Given the description of an element on the screen output the (x, y) to click on. 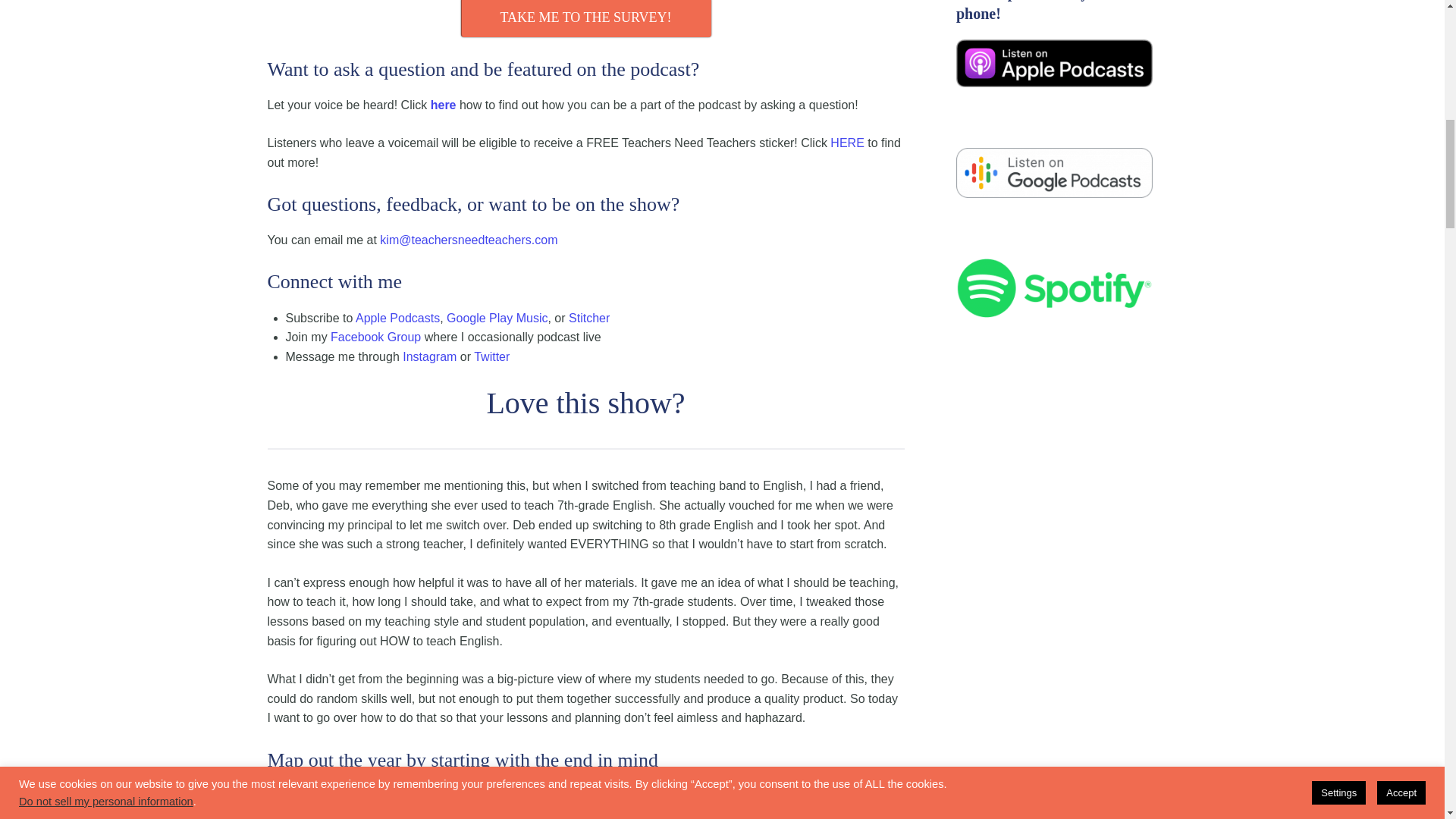
HERE (846, 142)
here (443, 104)
TAKE ME TO THE SURVEY! (586, 18)
